Given the description of an element on the screen output the (x, y) to click on. 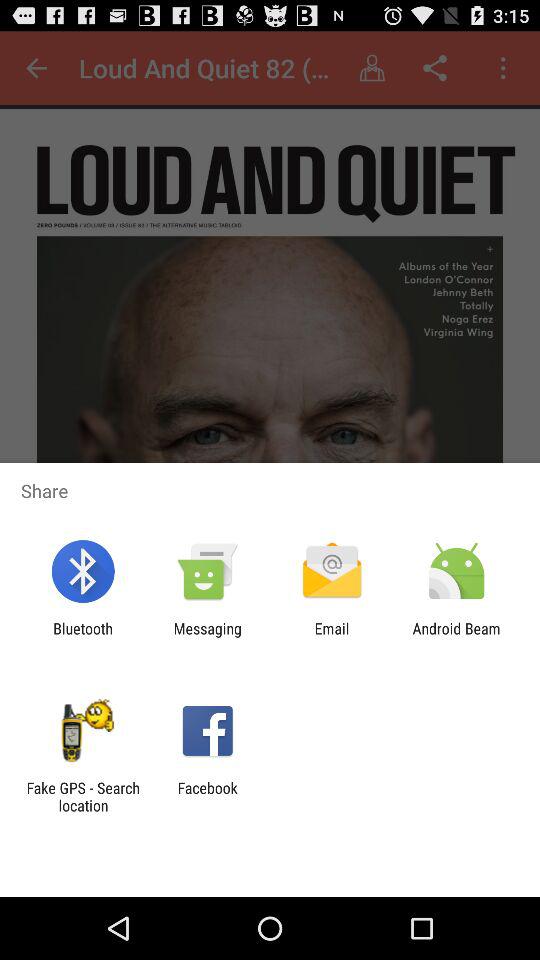
choose the bluetooth item (82, 637)
